Given the description of an element on the screen output the (x, y) to click on. 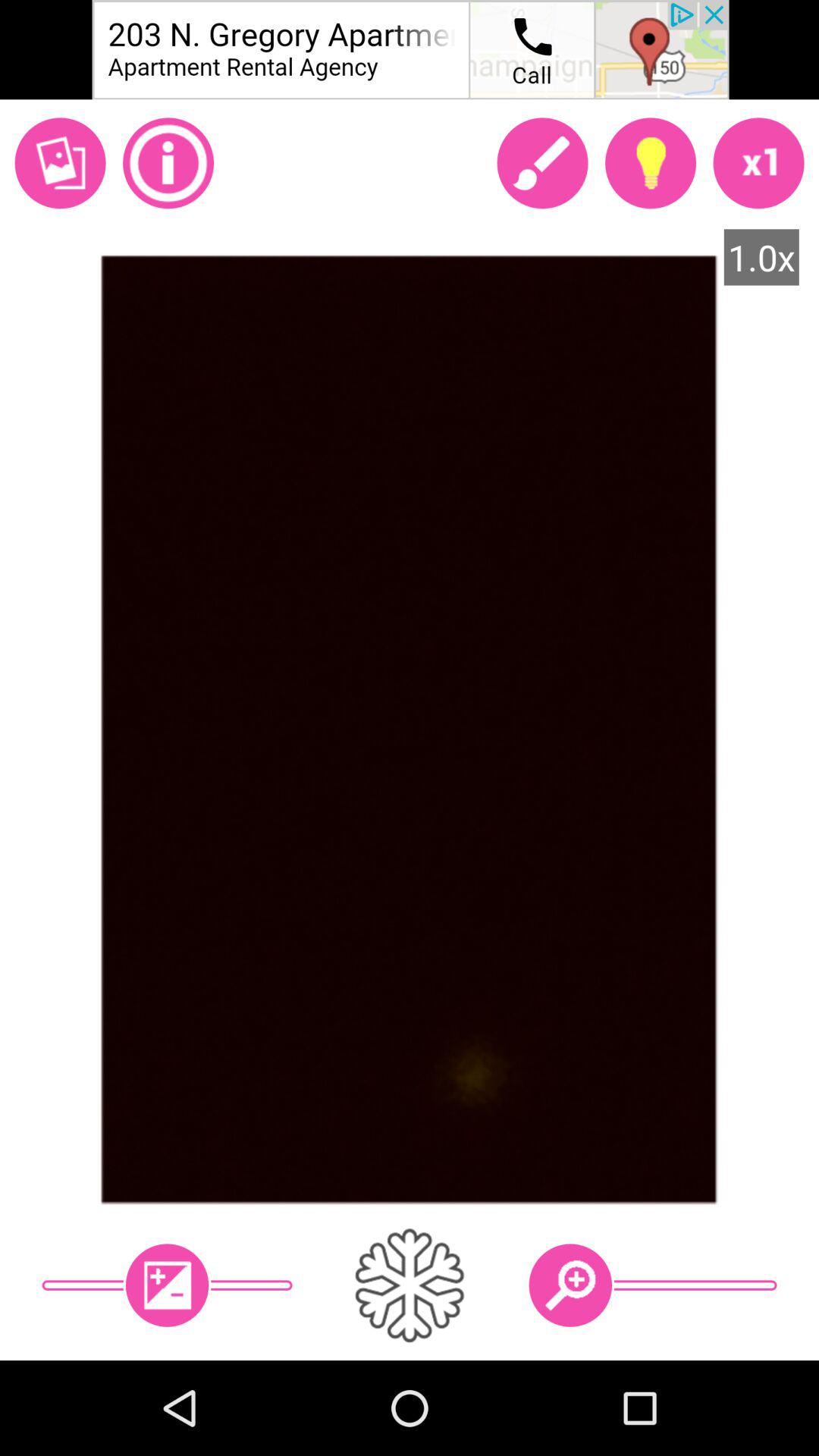
freeze image (409, 1285)
